Given the description of an element on the screen output the (x, y) to click on. 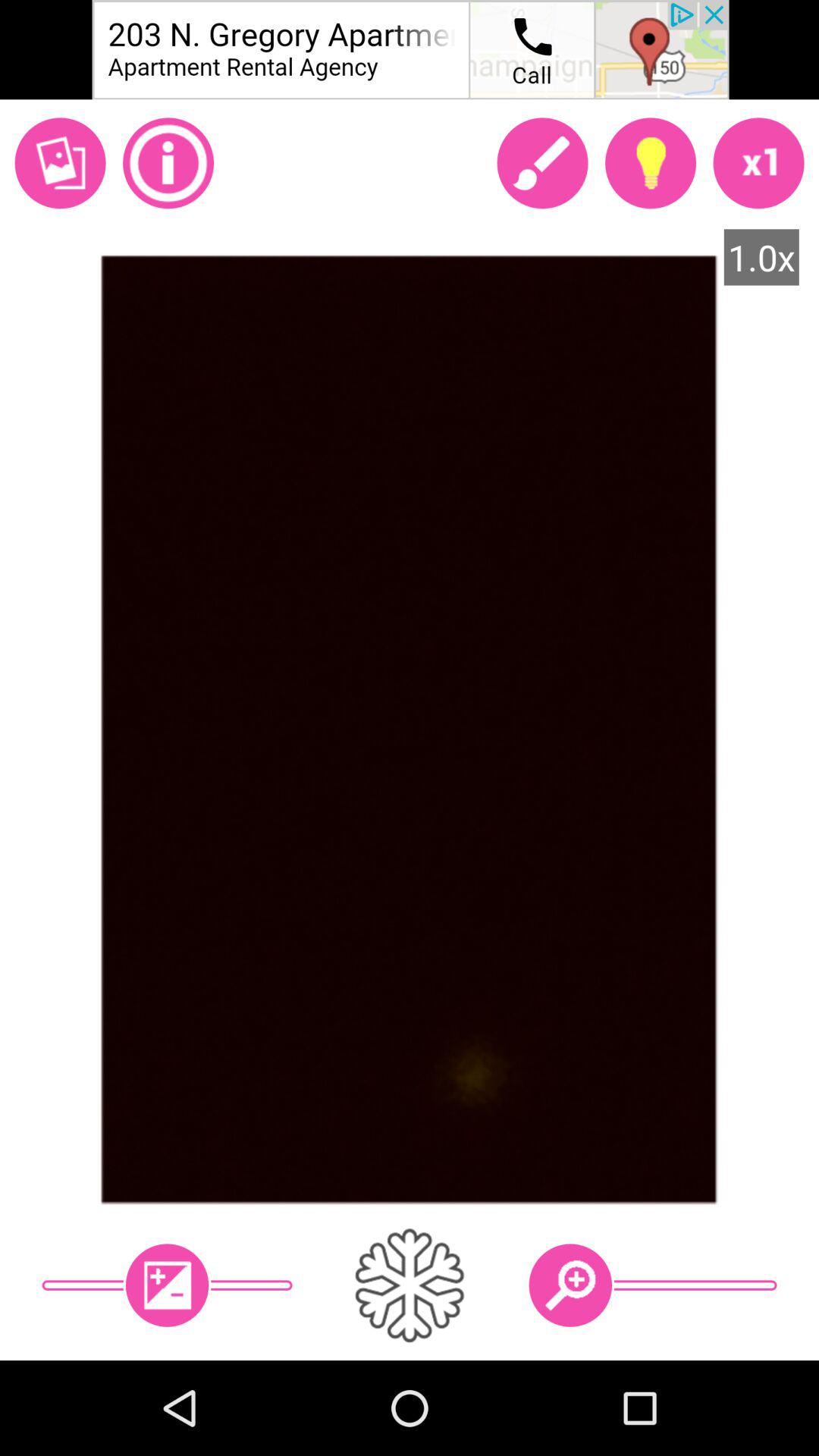
freeze image (409, 1285)
